Given the description of an element on the screen output the (x, y) to click on. 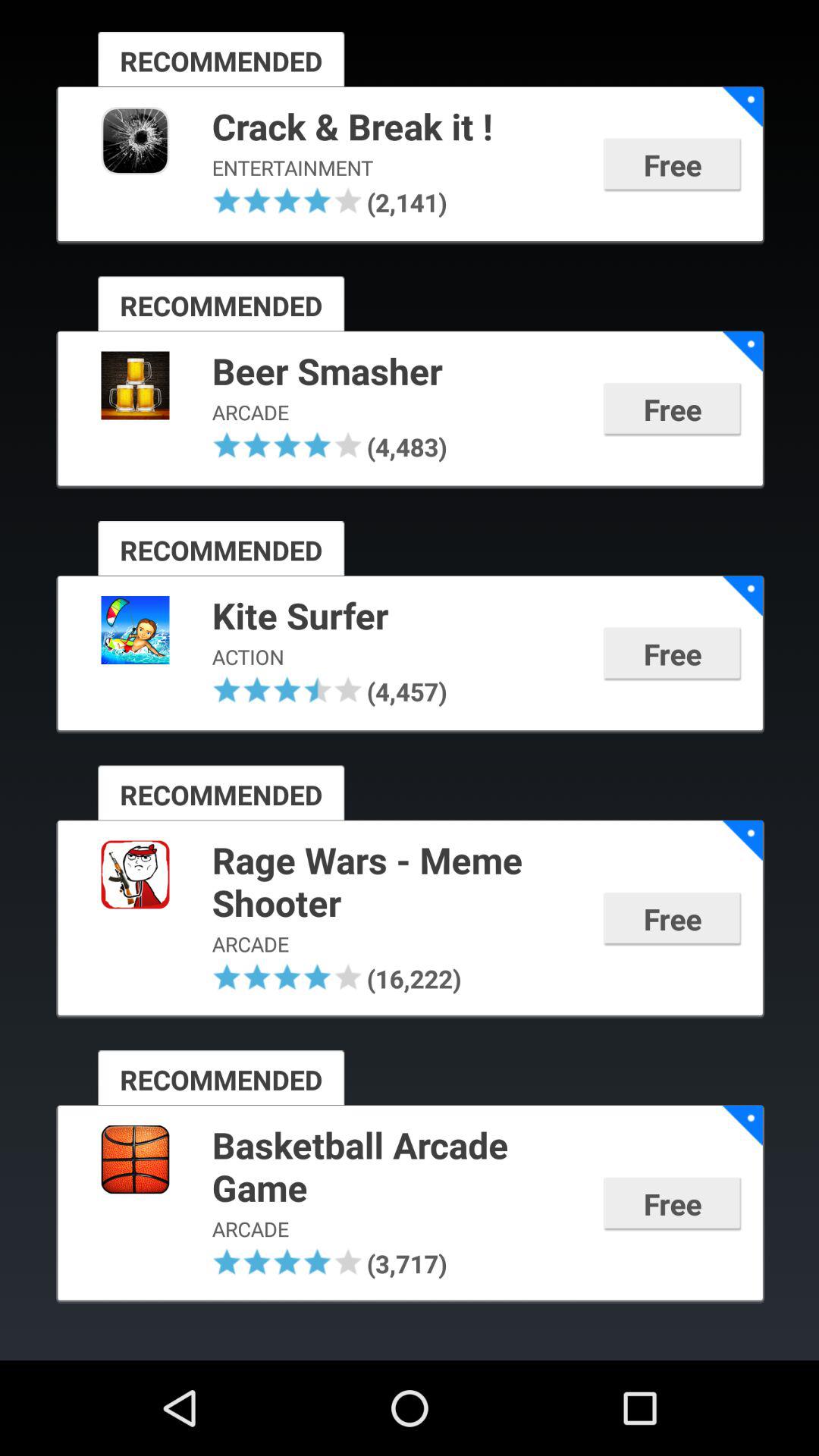
flip to entertainment icon (397, 165)
